Given the description of an element on the screen output the (x, y) to click on. 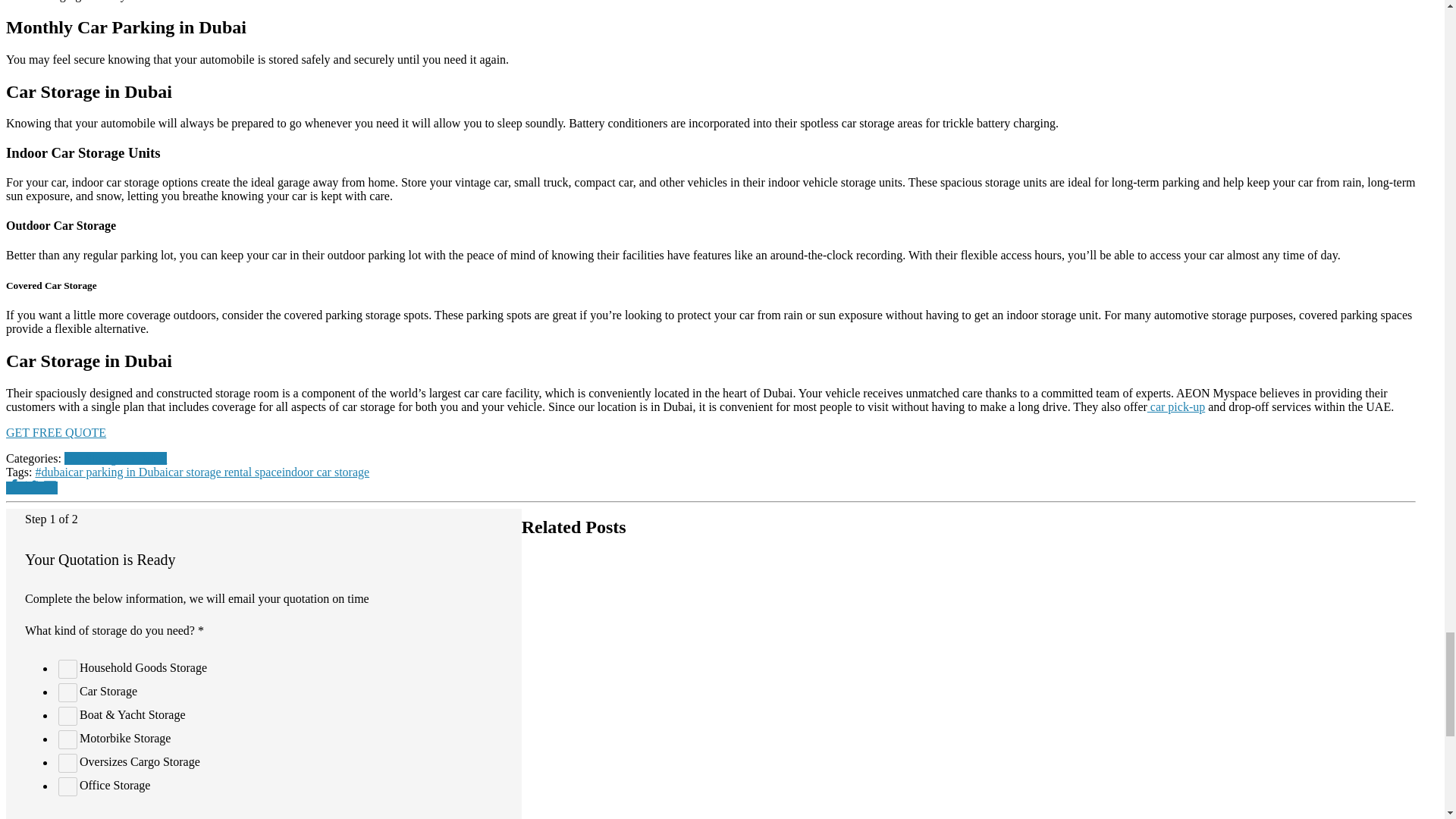
Car Storage (67, 692)
Motorbike Storage (67, 739)
car storage rental space (225, 472)
car pick-up (1176, 406)
GET FREE QUOTE (55, 431)
Office Storage (67, 786)
Car Storage in Dubai (115, 458)
Oversizes Cargo Storage (67, 763)
Household Goods Storage (67, 669)
car parking in Dubai (118, 472)
